Given the description of an element on the screen output the (x, y) to click on. 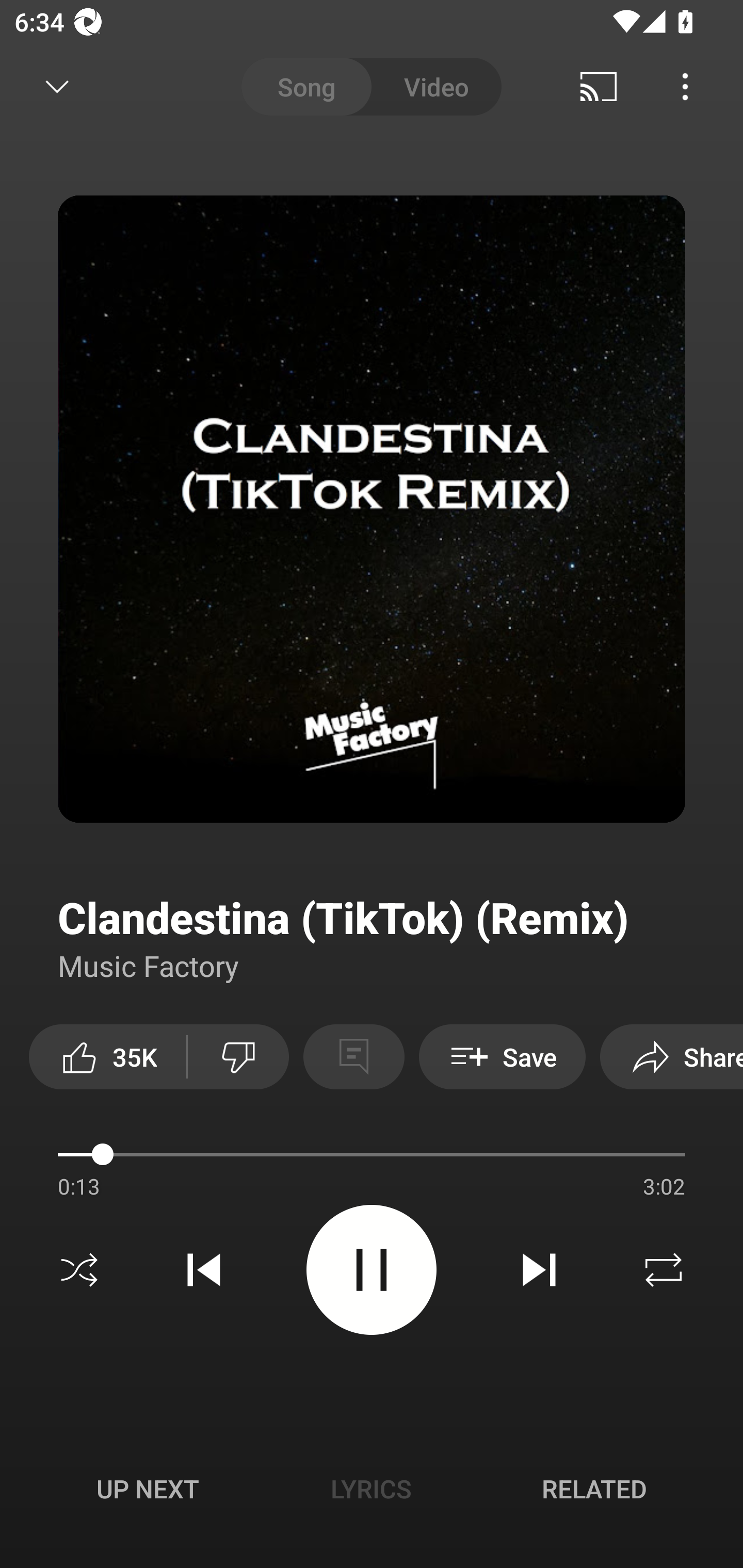
Minimize (57, 86)
Cast. Disconnected (598, 86)
Menu (684, 86)
Music Factory (148, 964)
35K like this video along with 35,710 other people (106, 1056)
Dislike (238, 1056)
Comments disabled. (353, 1056)
Save Save to playlist (502, 1056)
Share (671, 1056)
Pause video (371, 1269)
Shuffle off (79, 1269)
Previous track (203, 1269)
Next track (538, 1269)
Repeat off (663, 1269)
Up next UP NEXT Lyrics LYRICS Related RELATED (371, 1491)
Lyrics LYRICS (370, 1488)
Related RELATED (594, 1488)
